Given the description of an element on the screen output the (x, y) to click on. 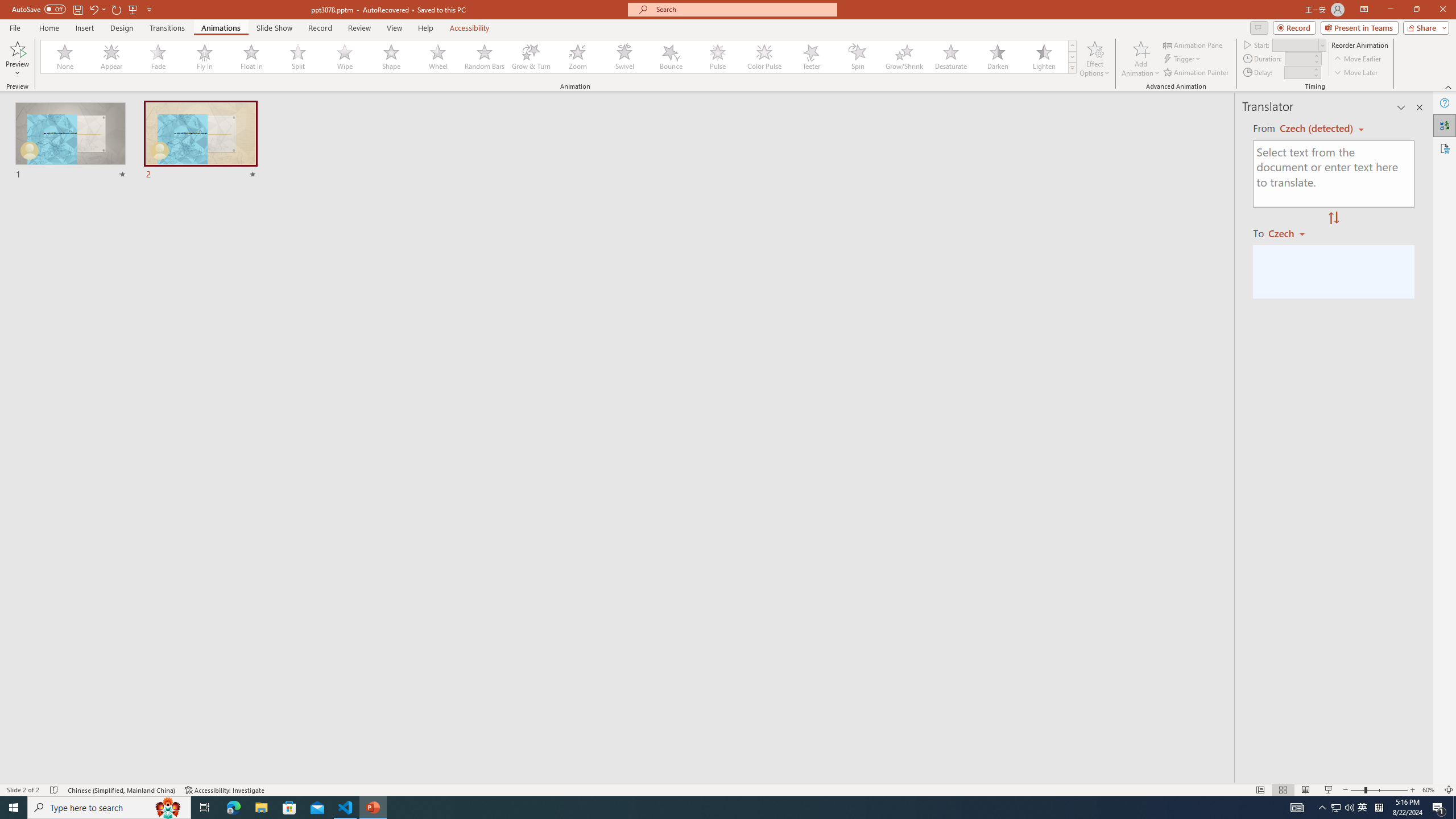
Outline Section (188, 615)
Google Chrome (729, 800)
Adjust indents and spacing - Microsoft Support (23, 315)
Terminal (Ctrl+`) (579, 533)
Extensions (Ctrl+Shift+X) (76, 397)
